Given the description of an element on the screen output the (x, y) to click on. 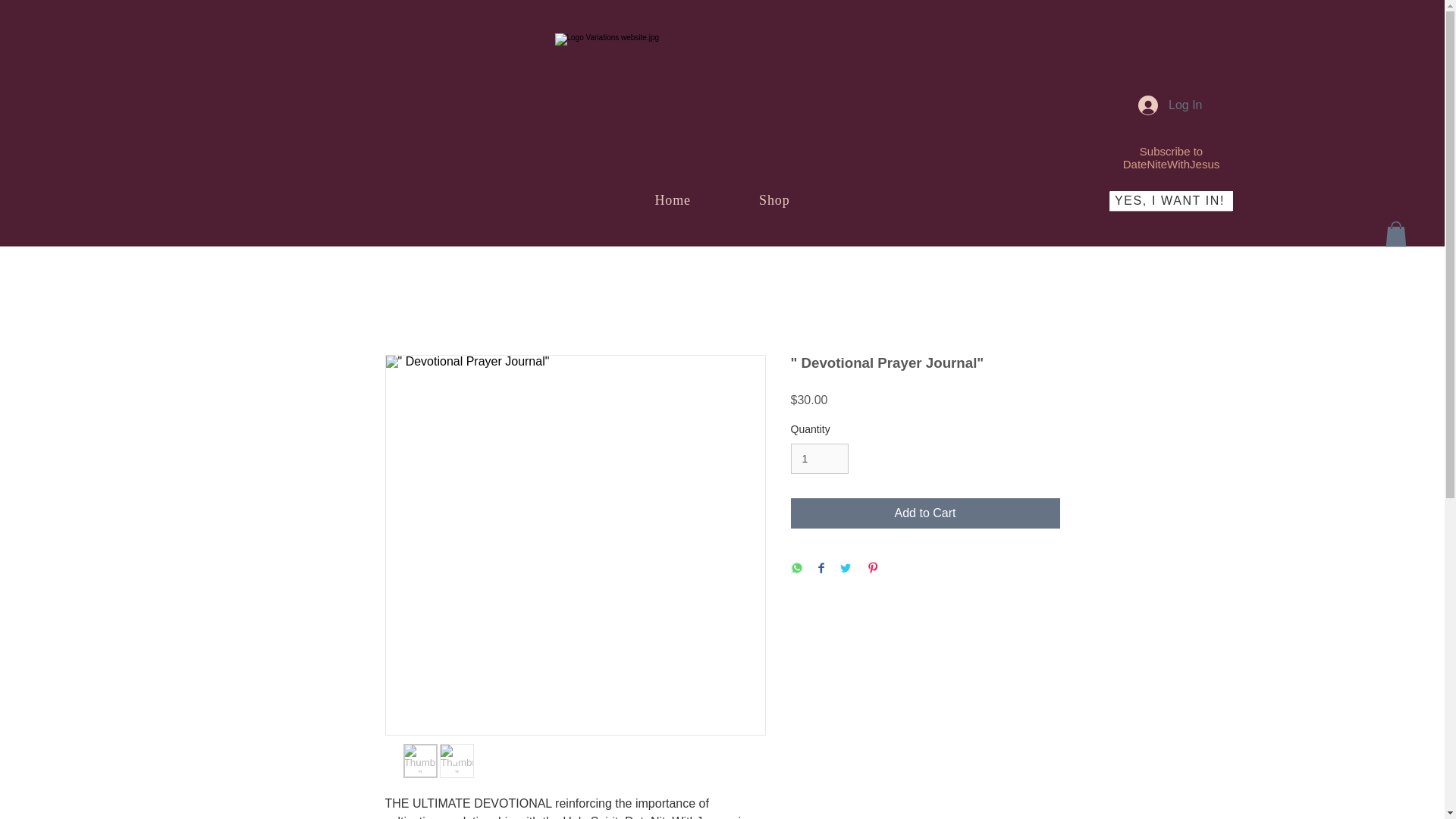
YES, I WANT IN! (1171, 200)
Log In (1169, 104)
Shop (774, 200)
1 (818, 459)
Add to Cart (924, 512)
Home (672, 200)
